Given the description of an element on the screen output the (x, y) to click on. 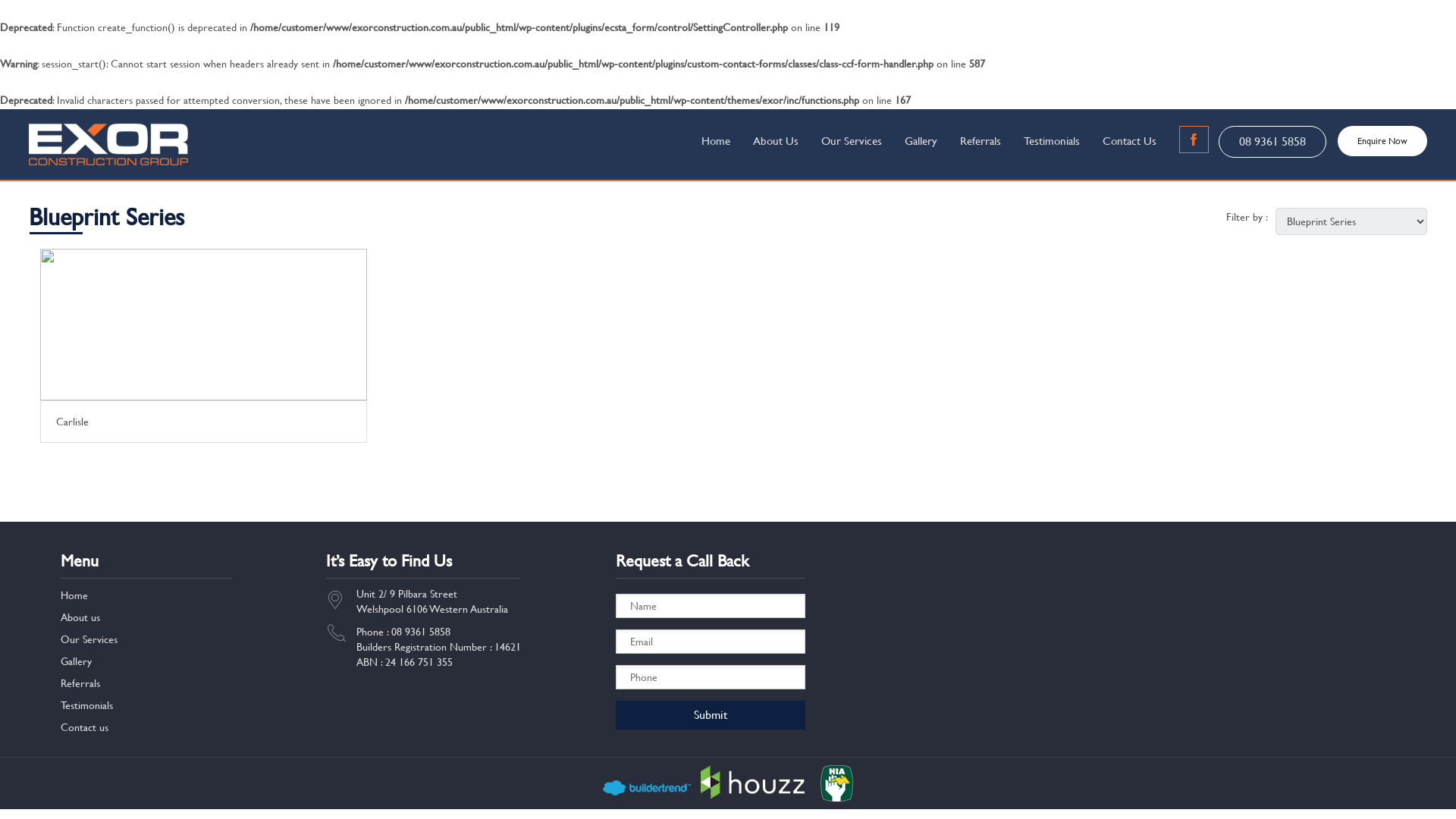
Testimonials Element type: text (86, 705)
Testimonials Element type: text (1051, 140)
Submit Element type: text (710, 714)
08 9361 5858 Element type: text (1272, 141)
Our Services Element type: text (851, 140)
Enquire Now Element type: text (1382, 140)
Contact Us Element type: text (1129, 140)
Carlisle Element type: text (203, 379)
About us Element type: text (80, 617)
Home Element type: text (73, 595)
Contact us Element type: text (84, 727)
Our Services Element type: text (88, 639)
Gallery Element type: text (920, 140)
Referrals Element type: text (980, 140)
Home Element type: text (715, 140)
Referrals Element type: text (80, 683)
About Us Element type: text (775, 140)
Gallery Element type: text (75, 661)
